Given the description of an element on the screen output the (x, y) to click on. 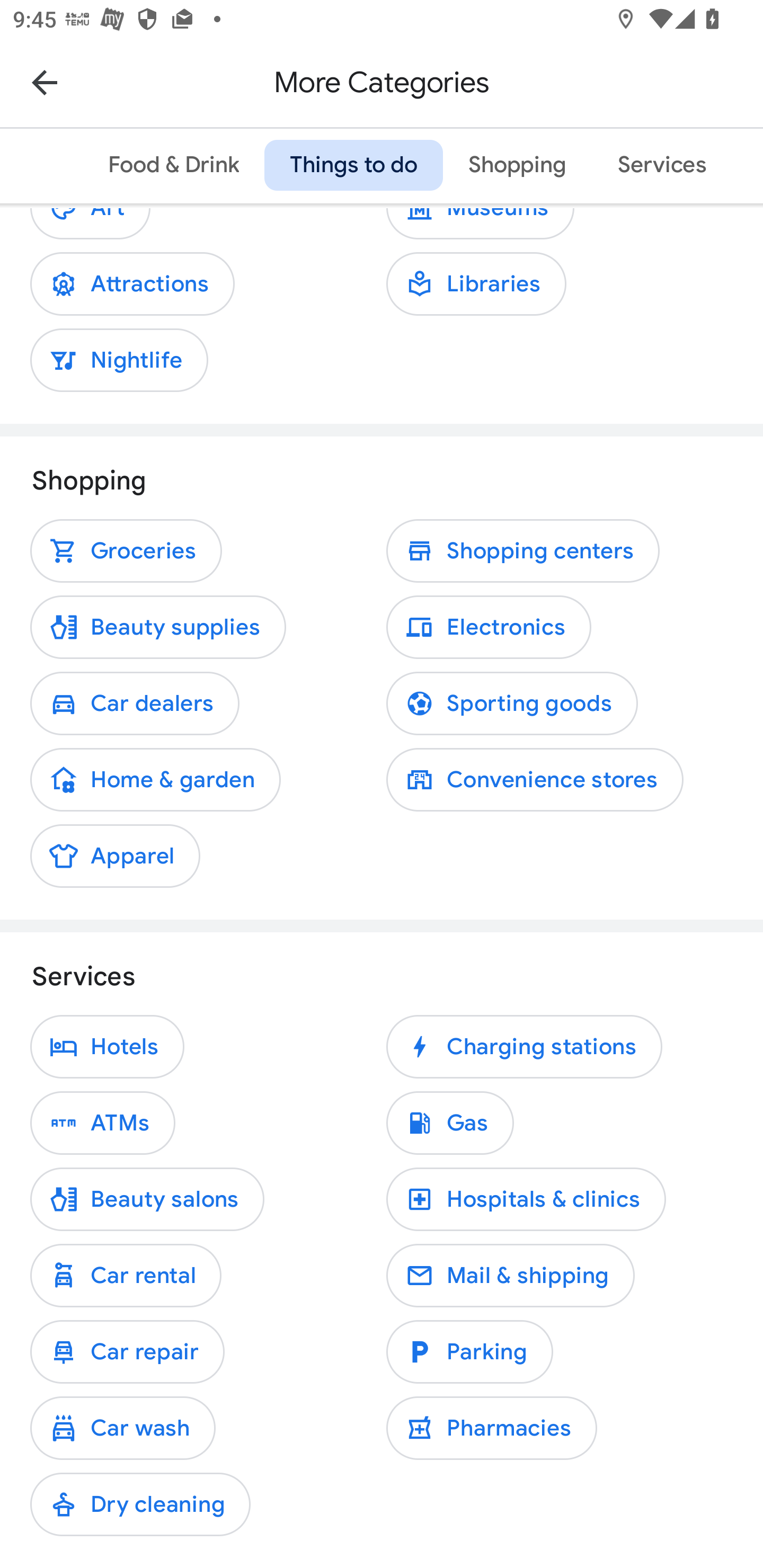
Navigate up (44, 82)
Food & Drink (173, 165)
Shopping (517, 165)
Services (661, 165)
Art Art Art (90, 227)
Museums Museums Museums (480, 227)
Attractions Attractions Attractions (132, 283)
Libraries Libraries Libraries (476, 283)
Nightlife Nightlife Nightlife (119, 359)
Groceries Groceries Groceries (126, 550)
Shopping centers Shopping centers Shopping centers (522, 550)
Beauty supplies Beauty supplies Beauty supplies (158, 626)
Electronics Electronics Electronics (488, 626)
Car dealers Car dealers Car dealers (134, 702)
Sporting goods Sporting goods Sporting goods (511, 702)
Home & garden Home & garden Home & garden (155, 779)
Apparel Apparel Apparel (114, 855)
Hotels Hotels Hotels (107, 1046)
ATMs ATMs ATMs (102, 1123)
Gas Gas Gas (450, 1123)
Beauty salons Beauty salons Beauty salons (147, 1199)
Car rental Car rental Car rental (125, 1275)
Mail & shipping Mail & shipping Mail & shipping (510, 1275)
Car repair Car repair Car repair (127, 1351)
Parking Parking Parking (469, 1351)
Car wash Car wash Car wash (122, 1427)
Pharmacies Pharmacies Pharmacies (491, 1427)
Dry cleaning Dry cleaning Dry cleaning (140, 1504)
